Given the description of an element on the screen output the (x, y) to click on. 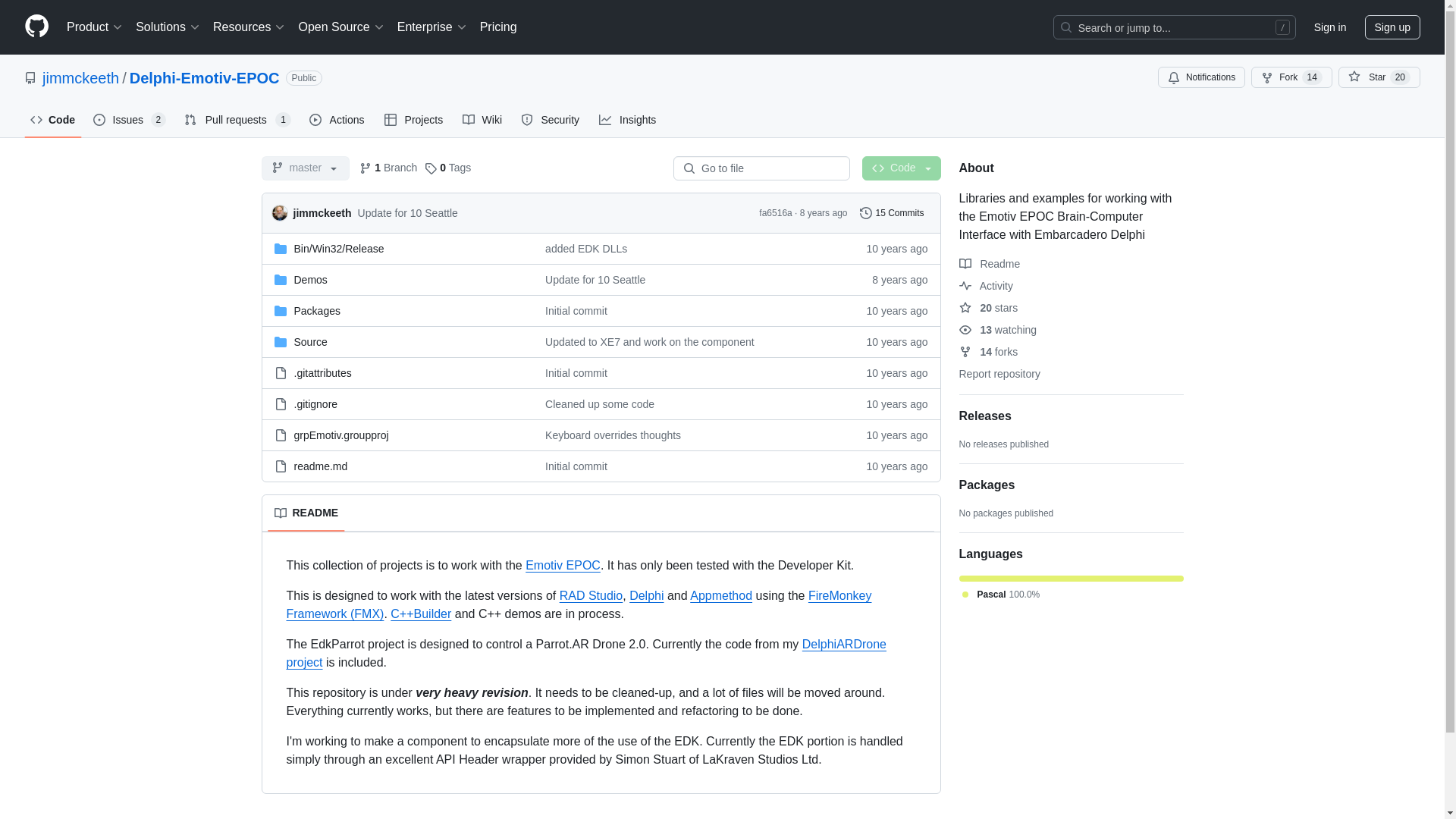
Resources (249, 27)
Demos (310, 278)
2 (159, 119)
Open Source (341, 27)
added EDK DLLs (585, 248)
1 (283, 119)
Product (95, 27)
14 (1311, 77)
20 (1400, 77)
